Given the description of an element on the screen output the (x, y) to click on. 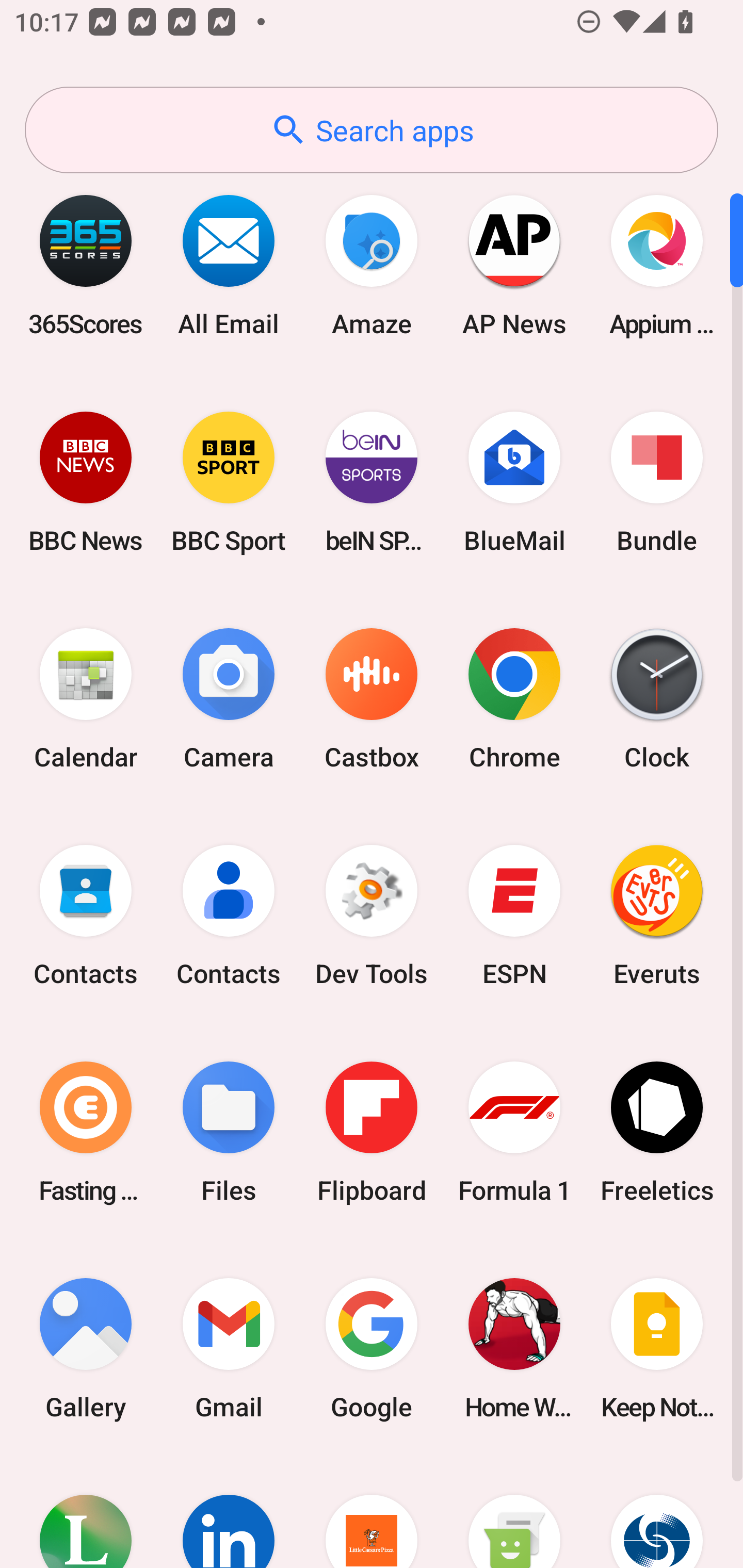
  Search apps (371, 130)
365Scores (85, 264)
All Email (228, 264)
Amaze (371, 264)
AP News (514, 264)
Appium Settings (656, 264)
BBC News (85, 482)
BBC Sport (228, 482)
beIN SPORTS (371, 482)
BlueMail (514, 482)
Bundle (656, 482)
Calendar (85, 699)
Camera (228, 699)
Castbox (371, 699)
Chrome (514, 699)
Clock (656, 699)
Contacts (85, 915)
Contacts (228, 915)
Dev Tools (371, 915)
ESPN (514, 915)
Everuts (656, 915)
Fasting Coach (85, 1131)
Files (228, 1131)
Flipboard (371, 1131)
Formula 1 (514, 1131)
Freeletics (656, 1131)
Gallery (85, 1348)
Gmail (228, 1348)
Google (371, 1348)
Home Workout (514, 1348)
Keep Notes (656, 1348)
